Given the description of an element on the screen output the (x, y) to click on. 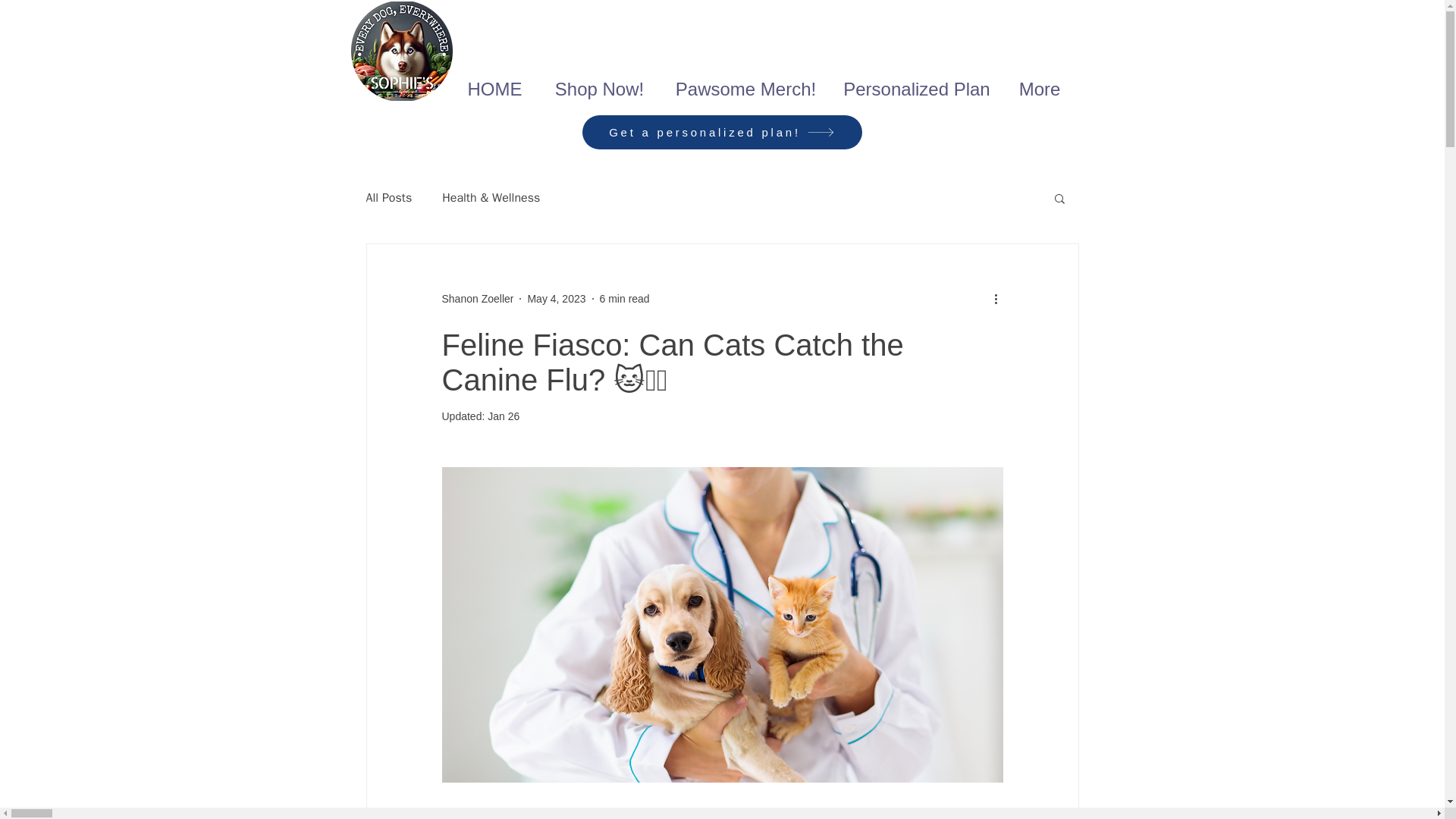
All Posts (388, 197)
Shop Now! (599, 83)
Personalized Plan (917, 83)
Shanon Zoeller (477, 299)
May 4, 2023 (556, 298)
Pawsome Merch! (746, 83)
6 min read (624, 298)
HOME (494, 83)
Shanon Zoeller (477, 299)
Jan 26 (503, 416)
